Given the description of an element on the screen output the (x, y) to click on. 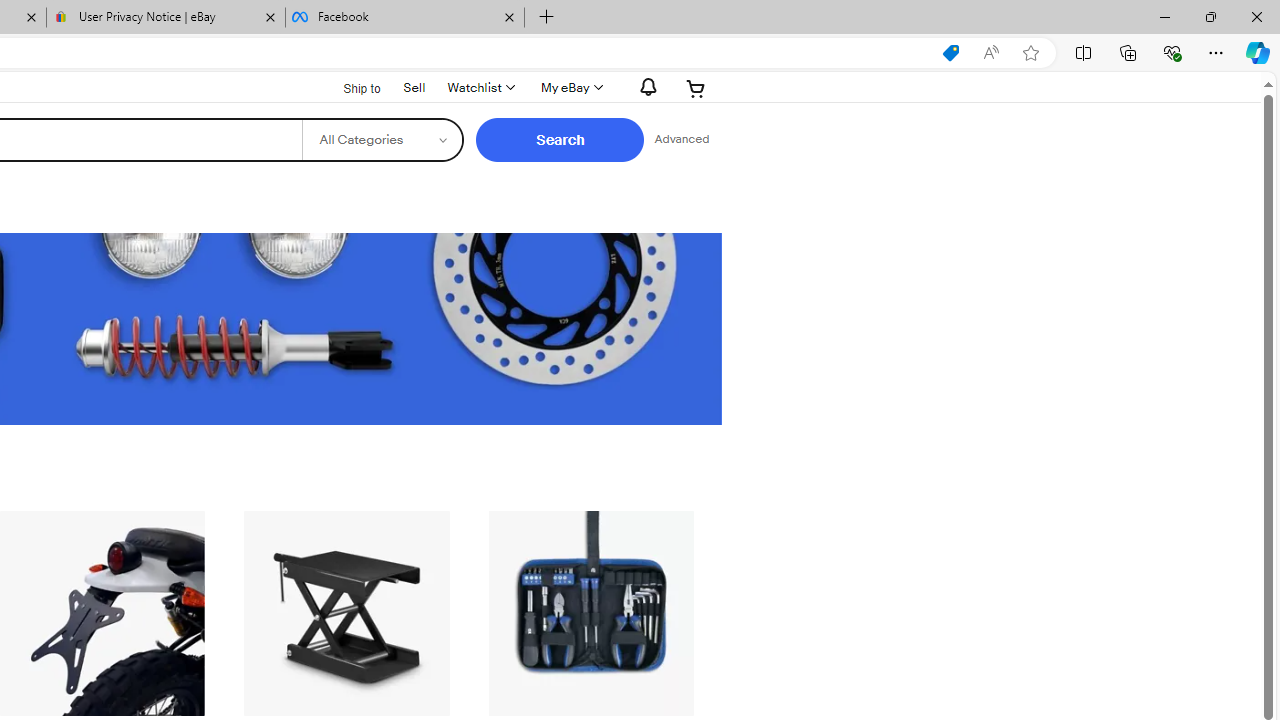
Ship to (349, 89)
Watchlist (479, 88)
Ship to (349, 86)
Expand Cart (696, 88)
WatchlistExpand Watch List (479, 88)
Sell (413, 86)
User Privacy Notice | eBay (166, 17)
Sell (414, 87)
